Given the description of an element on the screen output the (x, y) to click on. 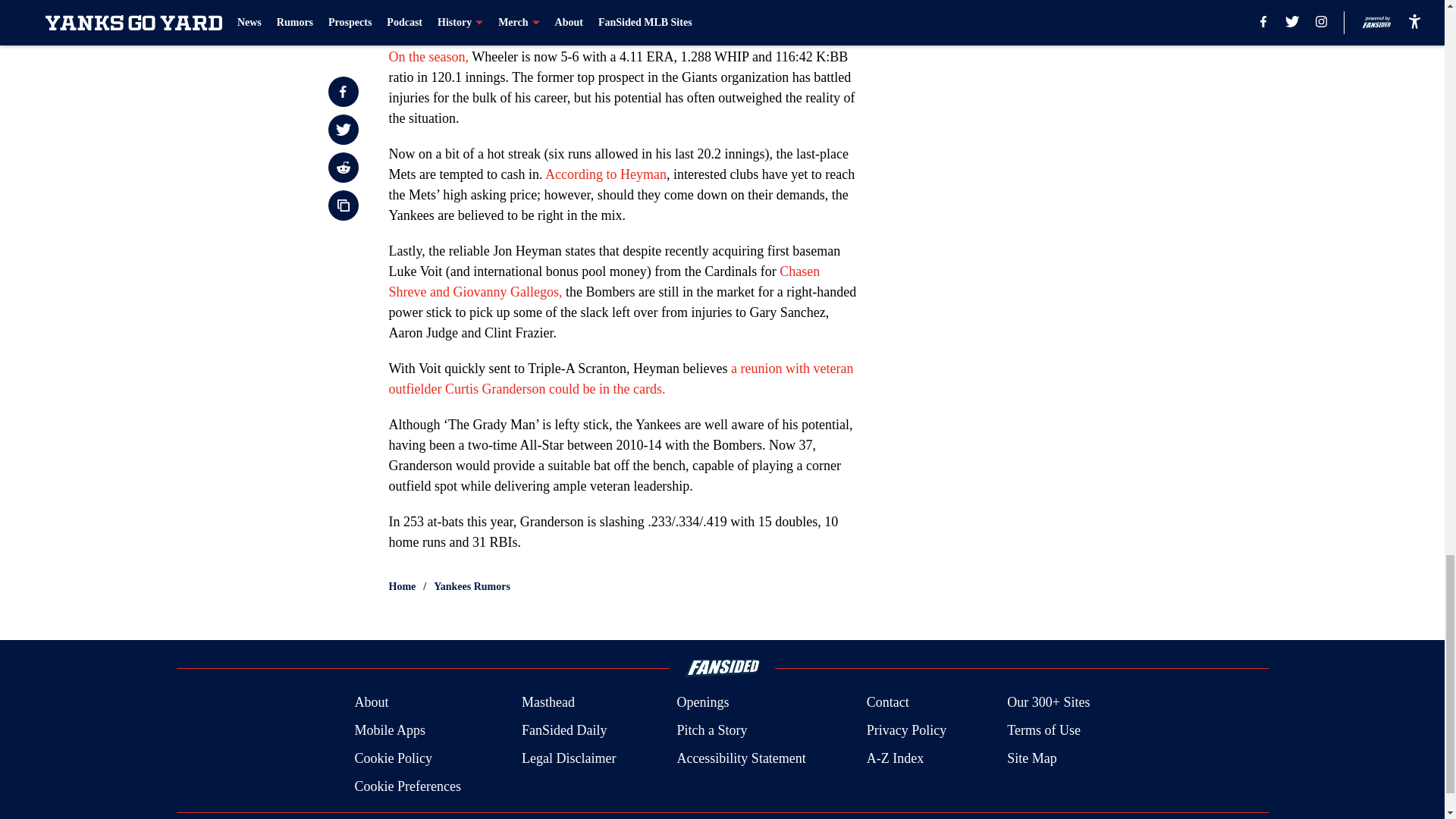
About (370, 702)
Chasen Shreve and Giovanny Gallegos, (603, 281)
Yankees Rumors (472, 586)
On the season, (427, 56)
According to Heyman (605, 174)
Home (401, 586)
